Given the description of an element on the screen output the (x, y) to click on. 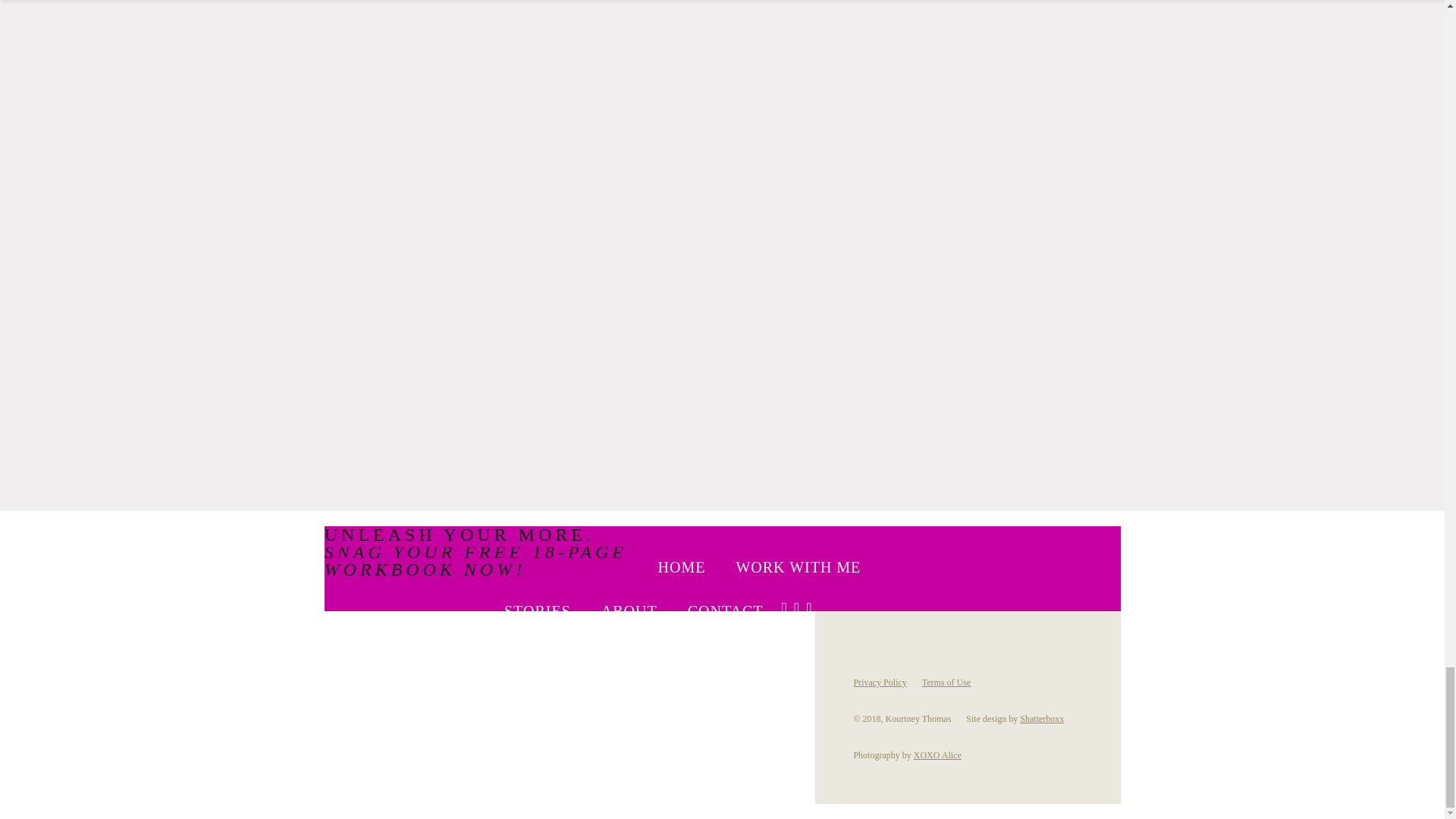
ABOUT (629, 611)
Privacy Policy (879, 682)
Terms of Use (946, 682)
WORK WITH ME (797, 567)
HOME (681, 567)
CONTACT (725, 611)
STORIES (537, 611)
XOXO Alice (937, 755)
Shatterboxx (1042, 718)
